Given the description of an element on the screen output the (x, y) to click on. 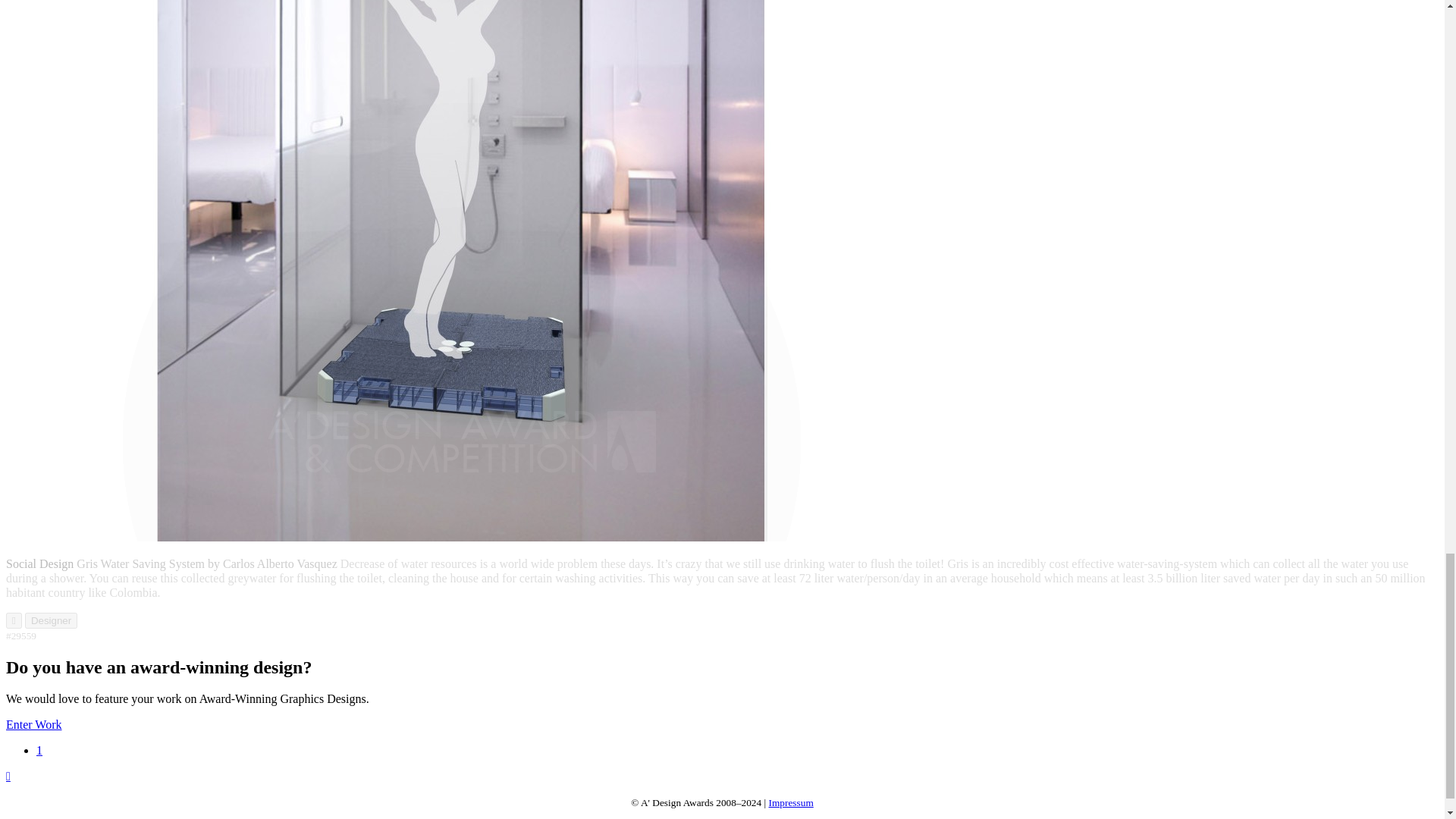
Impressum (790, 802)
Enter Work (33, 724)
Designer (50, 620)
